Given the description of an element on the screen output the (x, y) to click on. 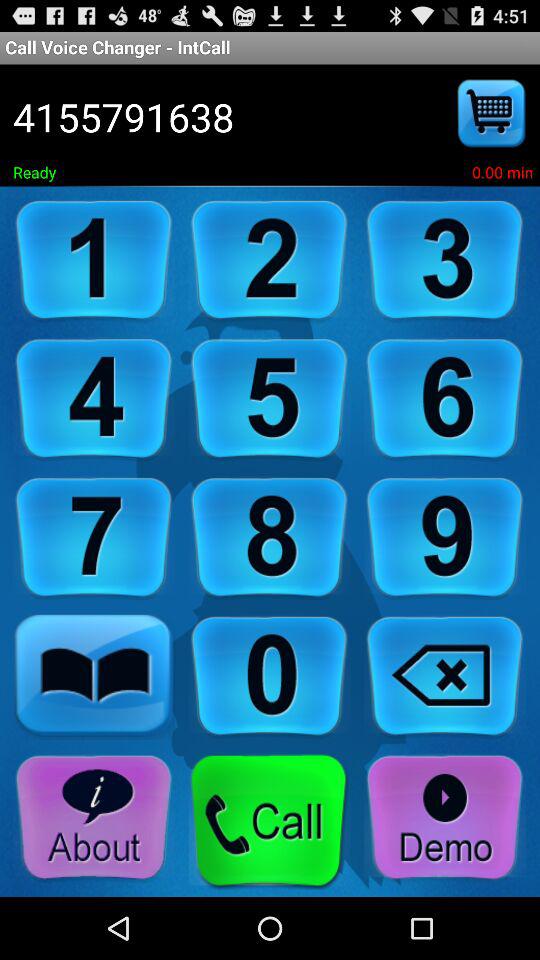
click on 0 (269, 676)
